Given the description of an element on the screen output the (x, y) to click on. 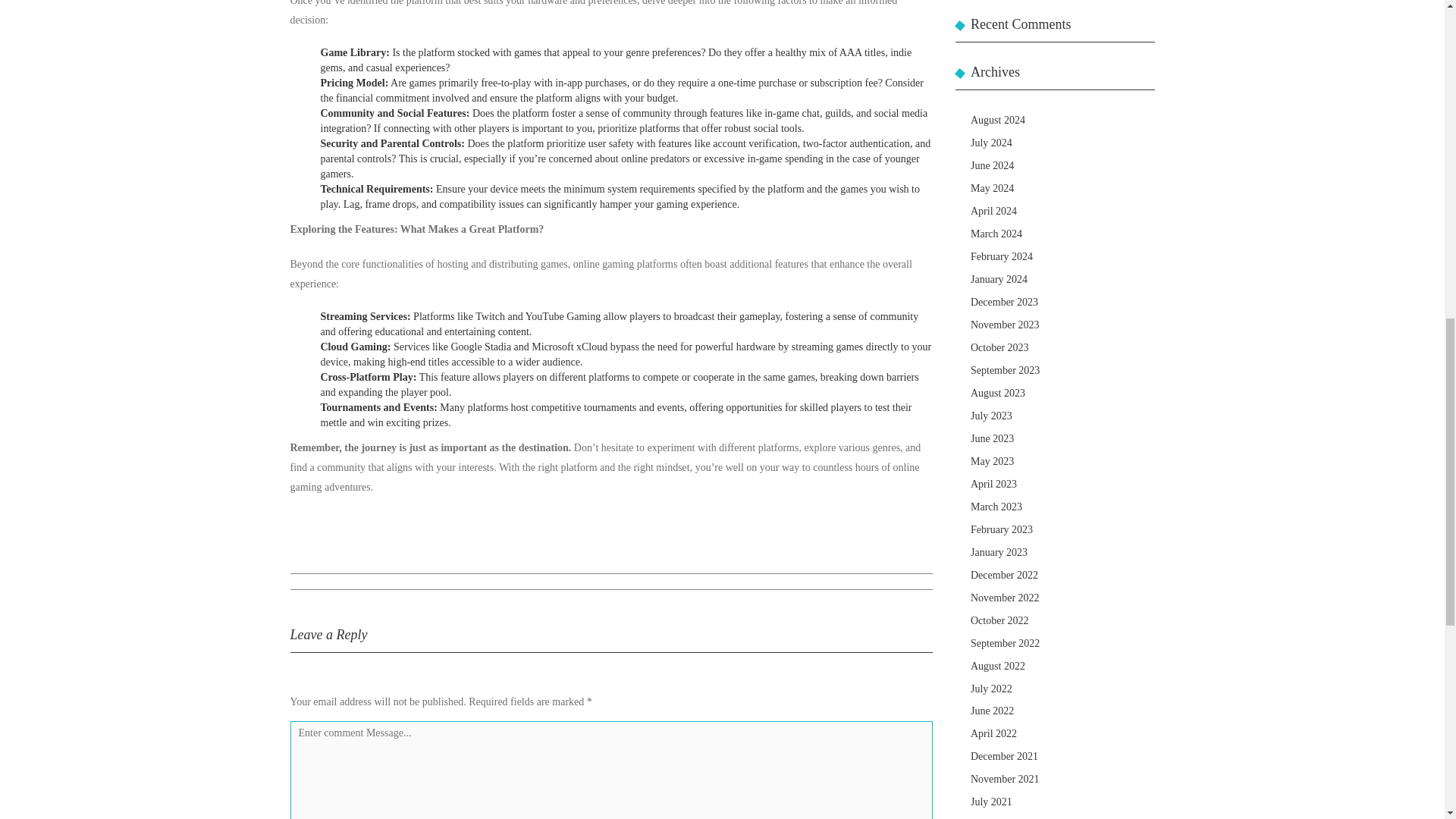
October 2023 (1000, 347)
July 2023 (991, 415)
March 2024 (996, 233)
August 2023 (998, 392)
June 2024 (992, 165)
June 2023 (992, 438)
April 2023 (993, 483)
February 2024 (1001, 256)
July 2024 (991, 142)
April 2024 (993, 211)
